Given the description of an element on the screen output the (x, y) to click on. 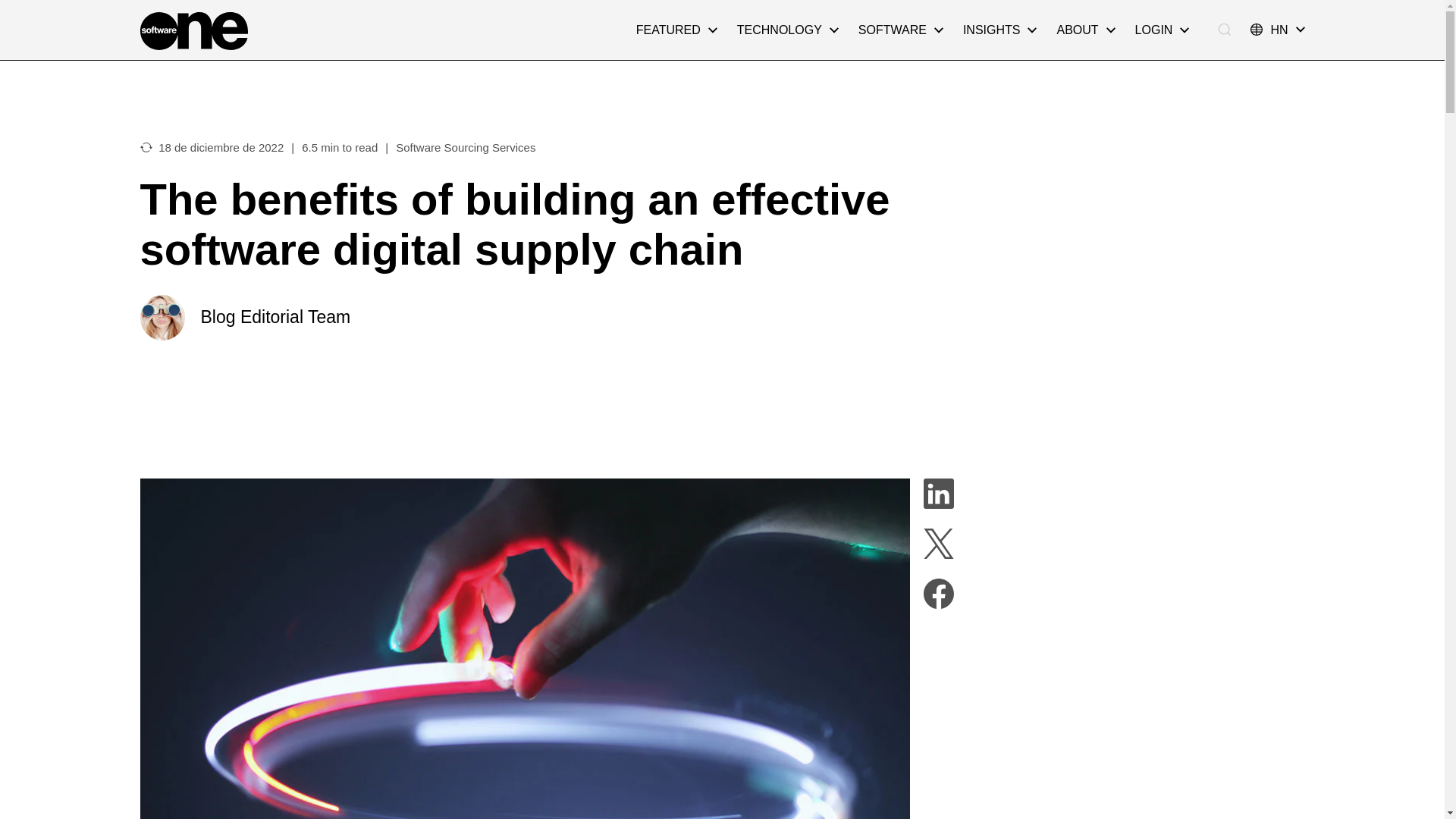
TECHNOLOGY (787, 30)
SOFTWARE (900, 30)
SoftwareOne blog editorial team (161, 317)
INSIGHTS (999, 30)
FEATURED (676, 30)
ABOUT (1085, 30)
LOGIN (1162, 30)
